Given the description of an element on the screen output the (x, y) to click on. 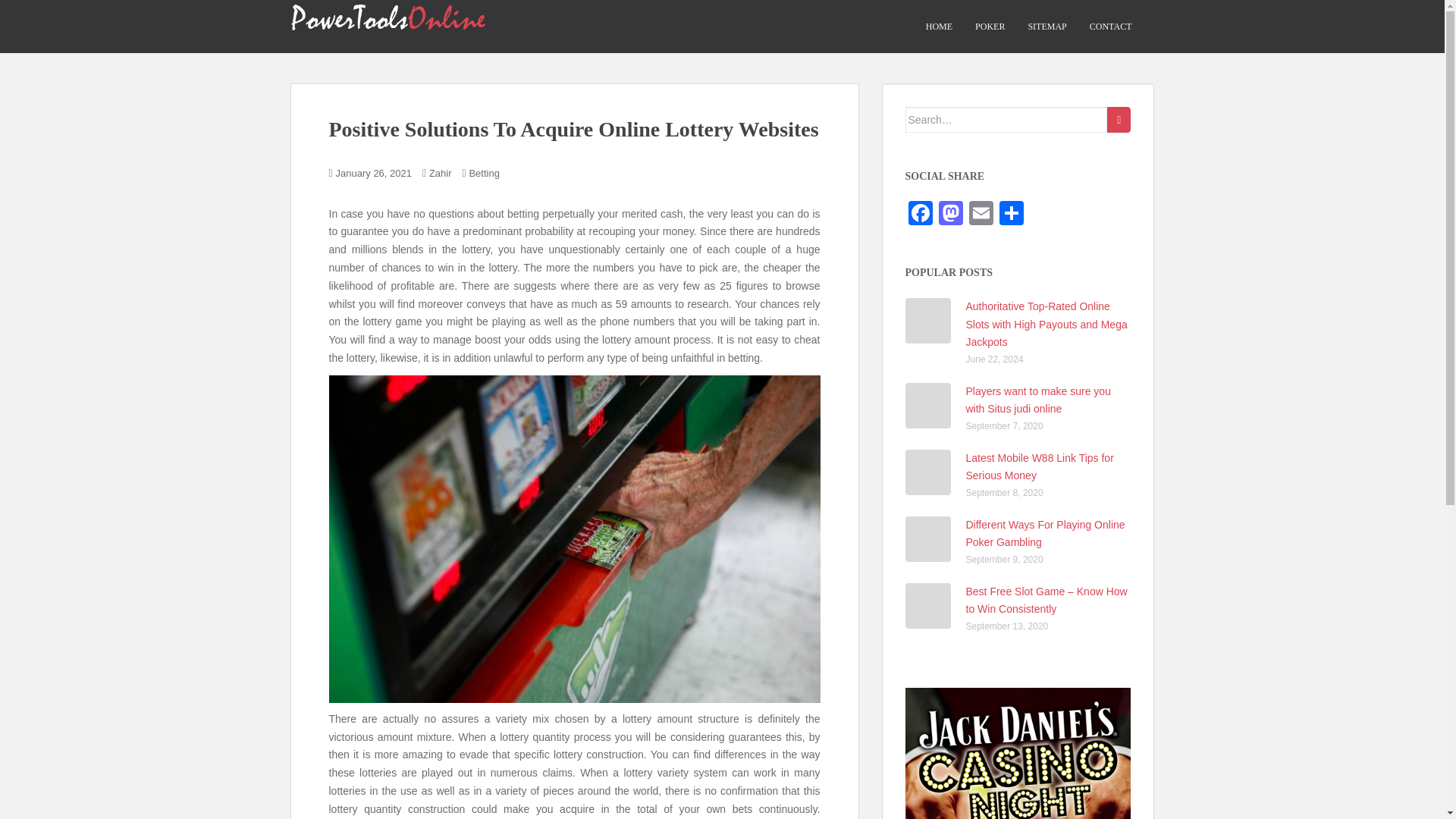
Search (1118, 119)
Email (980, 214)
SITEMAP (1046, 26)
January 26, 2021 (374, 173)
Facebook (920, 214)
Facebook (920, 214)
Betting (483, 173)
Players want to make sure you with Situs judi online (1038, 399)
Share (1010, 214)
CONTACT (1110, 26)
Search for: (1006, 119)
Different Ways For Playing Online Poker Gambling (1045, 533)
POKER (989, 26)
Latest Mobile W88 Link Tips for Serious Money (1039, 467)
